Given the description of an element on the screen output the (x, y) to click on. 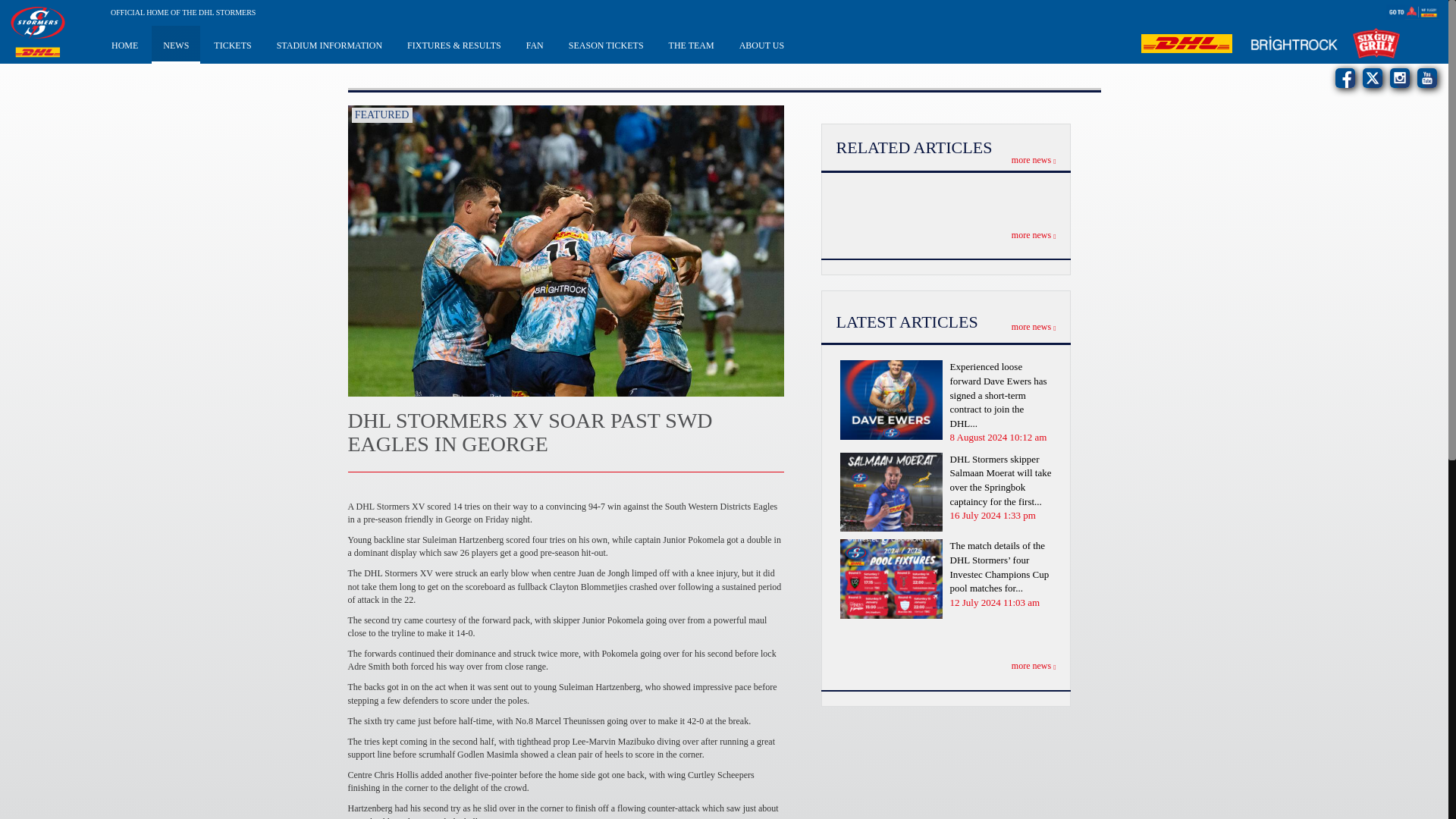
STADIUM INFORMATION (328, 44)
THE TEAM (691, 44)
more news (1034, 159)
TICKETS (232, 44)
more news (1034, 326)
ABOUT US (761, 44)
SEASON TICKETS (606, 44)
more news (1034, 235)
